Given the description of an element on the screen output the (x, y) to click on. 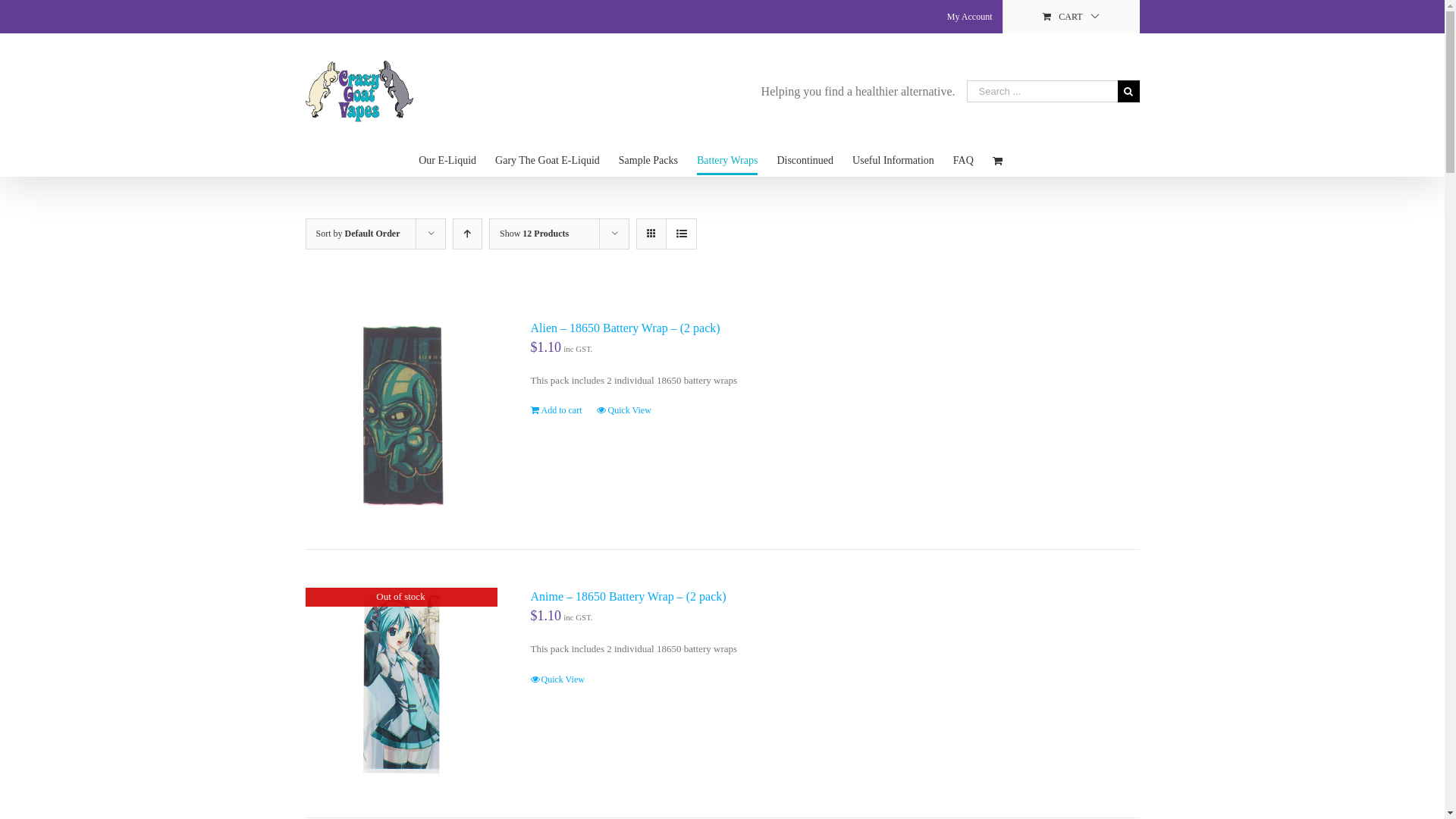
Battery Wraps Element type: text (726, 160)
FAQ Element type: text (963, 160)
Show 12 Products Element type: text (533, 233)
Quick View Element type: text (623, 410)
Add to cart Element type: text (556, 410)
My Account Element type: text (969, 16)
Sort by Default Order Element type: text (357, 233)
Sample Packs Element type: text (647, 160)
Useful Information Element type: text (893, 160)
Our E-Liquid Element type: text (447, 160)
Out of stock Element type: text (400, 683)
Gary The Goat E-Liquid Element type: text (547, 160)
Discontinued Element type: text (804, 160)
CART Element type: text (1070, 16)
Quick View Element type: text (557, 678)
